Given the description of an element on the screen output the (x, y) to click on. 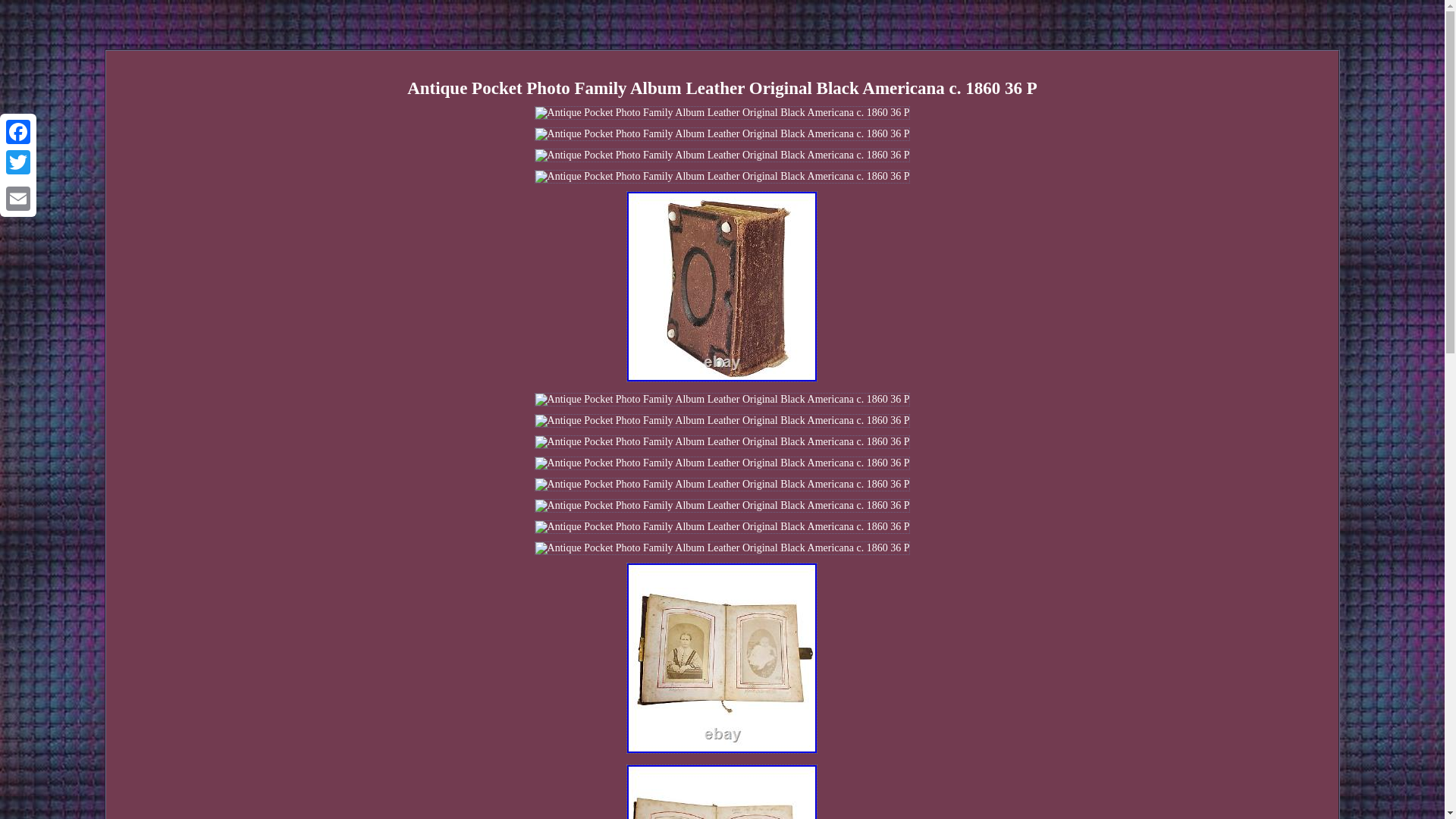
Twitter (17, 162)
